Given the description of an element on the screen output the (x, y) to click on. 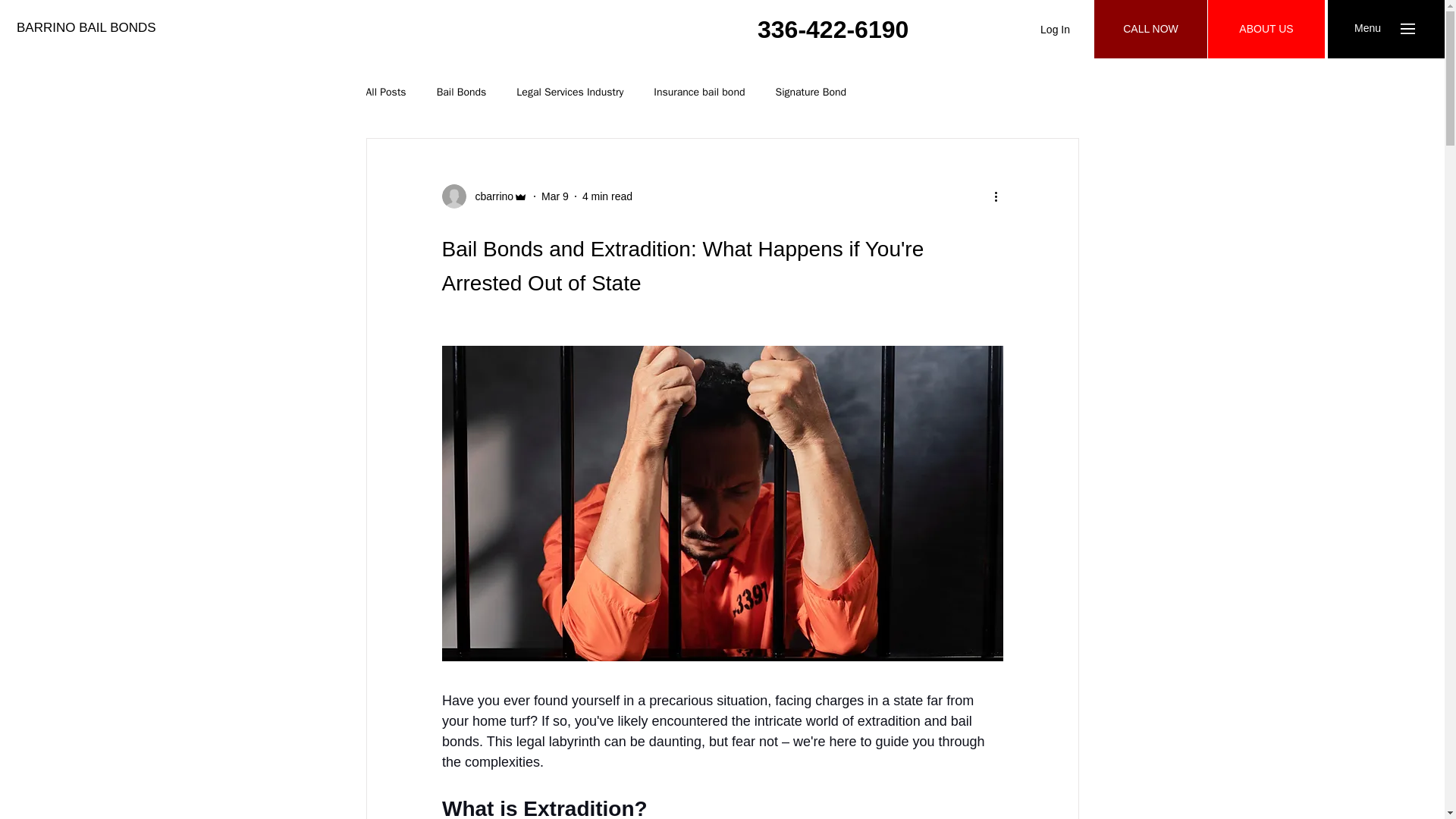
All Posts (385, 92)
BARRINO BAIL BONDS (85, 27)
Insurance bail bond (698, 92)
Bail Bonds (461, 92)
ABOUT US (1266, 29)
4 min read (606, 195)
Legal Services Industry (569, 92)
Mar 9 (555, 195)
Log In (1054, 30)
CALL NOW (1150, 29)
